Given the description of an element on the screen output the (x, y) to click on. 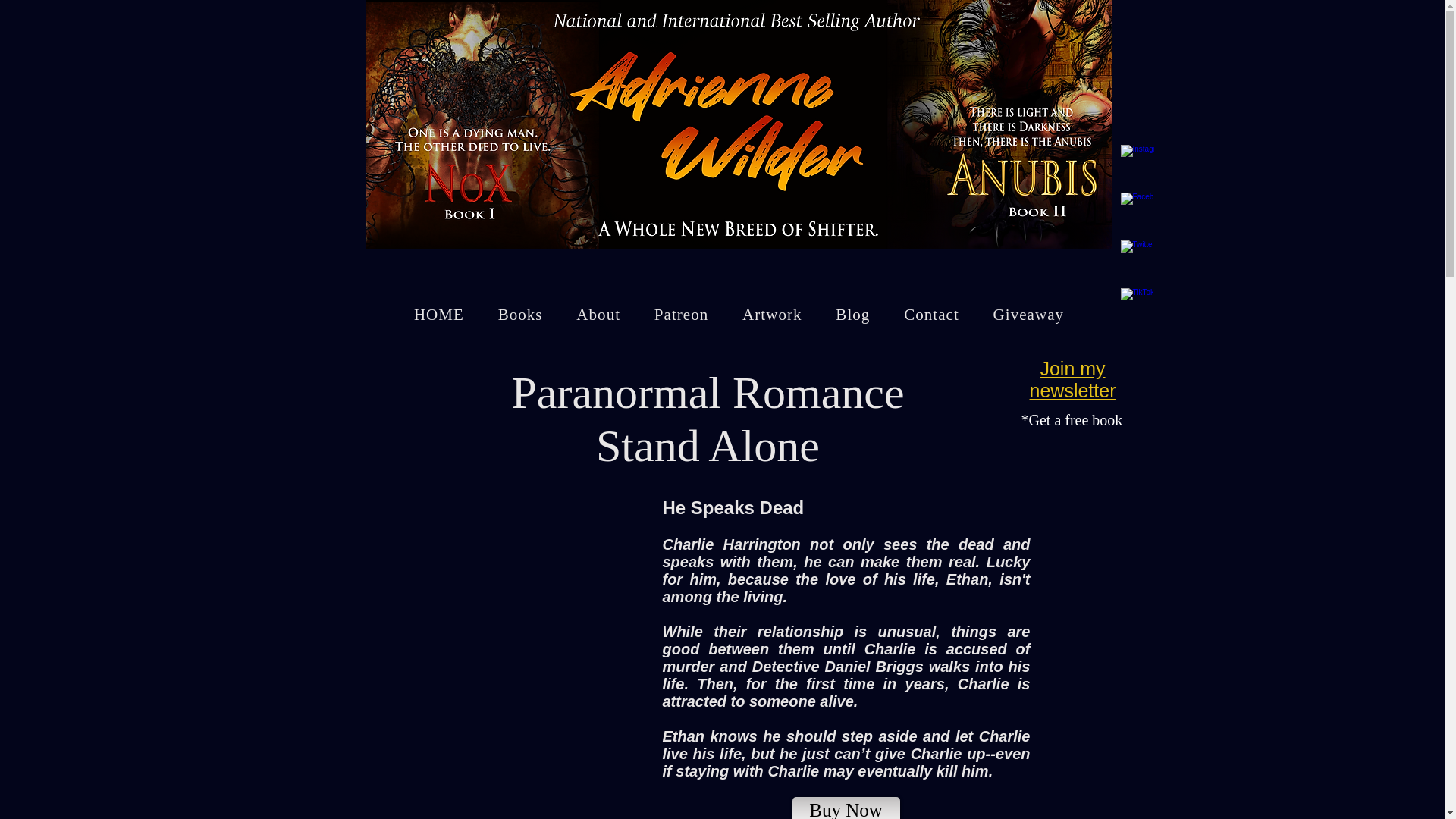
Artwork (772, 314)
Blog (852, 314)
HOME (439, 314)
Books (519, 314)
Buy Now (845, 807)
Contact (930, 314)
Patreon (681, 314)
Join my newsletter (1072, 379)
Giveaway (1027, 314)
About (598, 314)
